Given the description of an element on the screen output the (x, y) to click on. 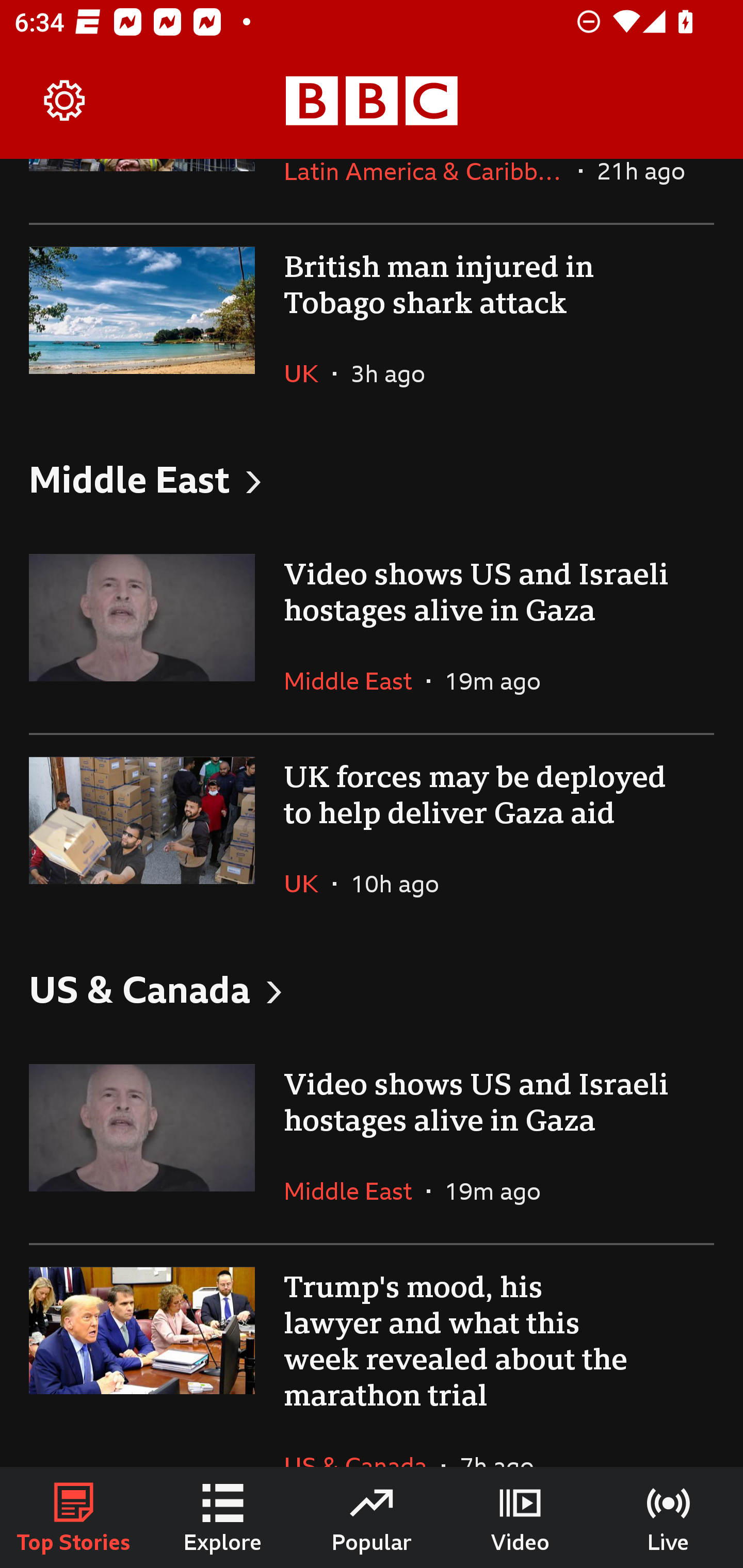
Settings (64, 100)
UK In the section UK (307, 372)
Middle East, Heading Middle East    (371, 477)
Middle East In the section Middle East (354, 680)
UK In the section UK (307, 883)
US & Canada, Heading US & Canada    (371, 989)
Middle East In the section Middle East (354, 1190)
Explore (222, 1517)
Popular (371, 1517)
Video (519, 1517)
Live (668, 1517)
